Given the description of an element on the screen output the (x, y) to click on. 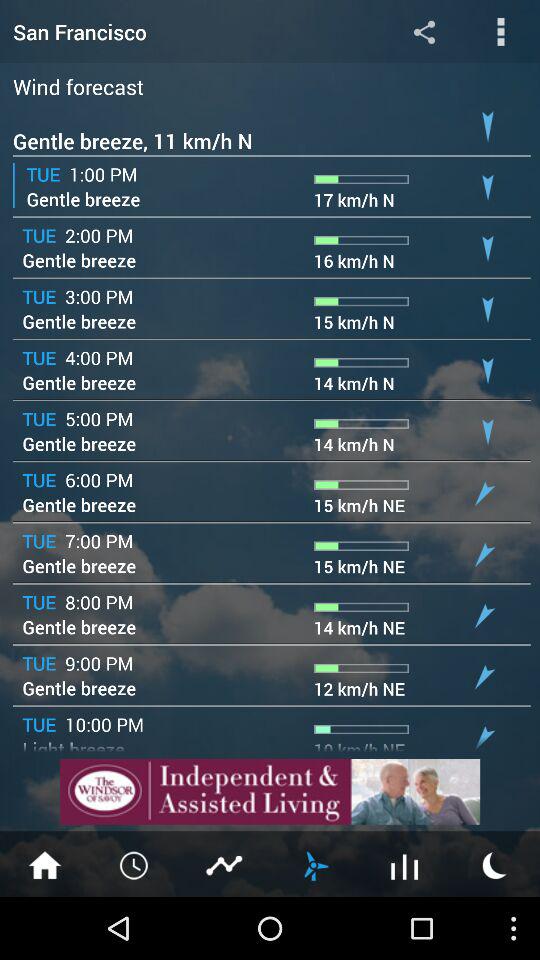
home (45, 864)
